Given the description of an element on the screen output the (x, y) to click on. 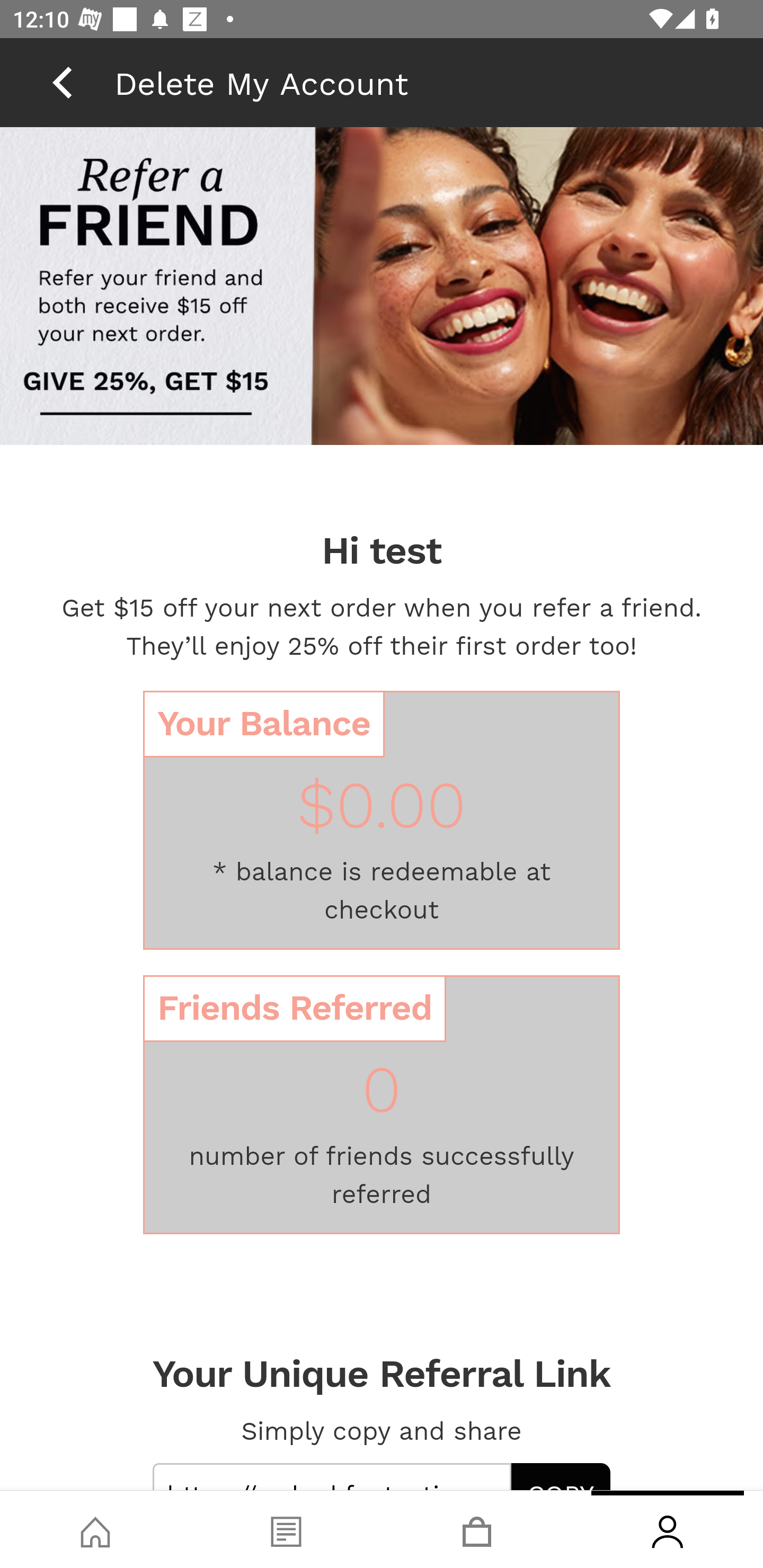
back (61, 82)
raf (381, 288)
Shop, tab, 1 of 4 (95, 1529)
Blog, tab, 2 of 4 (285, 1529)
Basket, tab, 3 of 4 (476, 1529)
Account, tab, 4 of 4 (667, 1529)
